Given the description of an element on the screen output the (x, y) to click on. 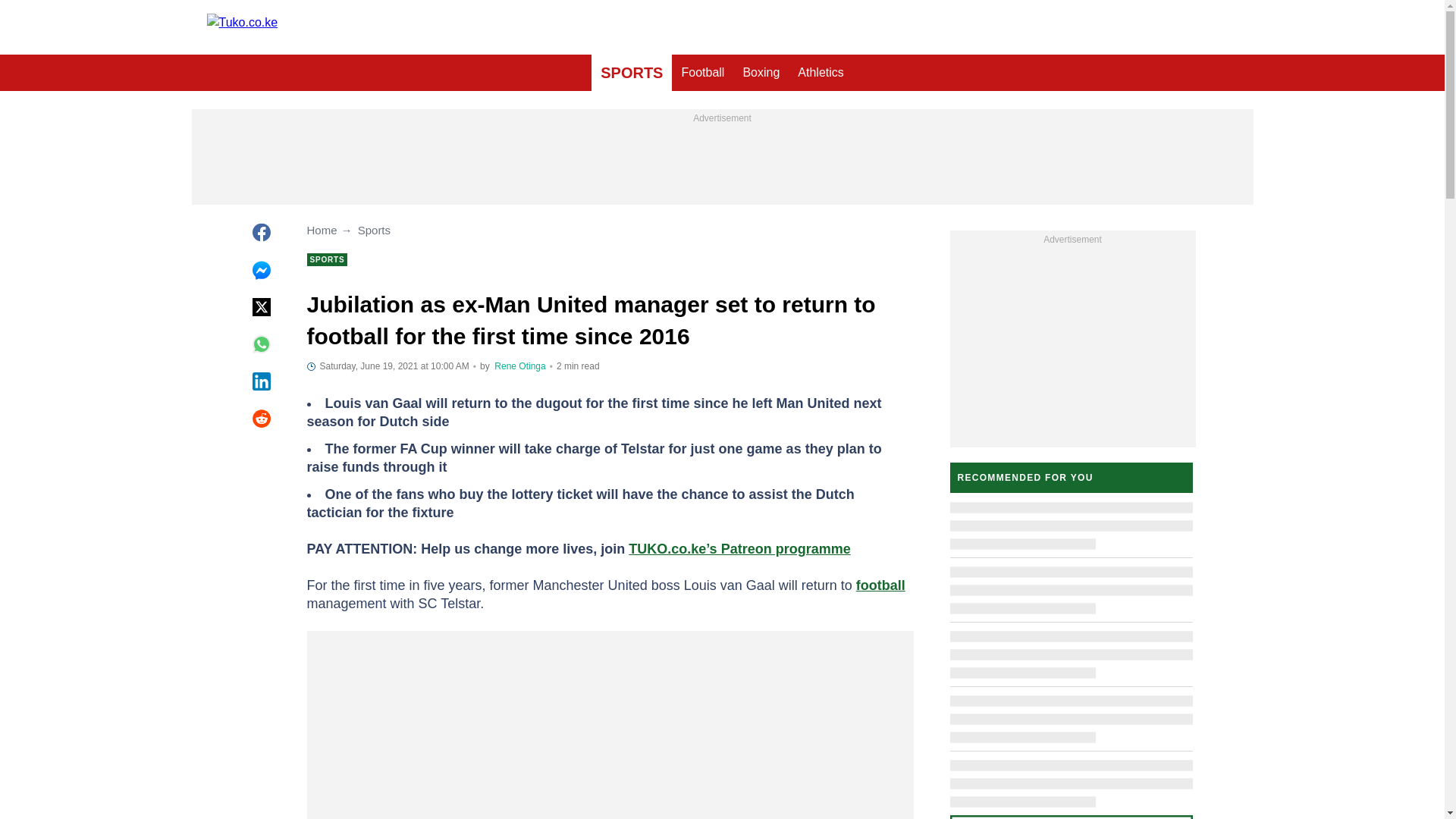
Football (702, 72)
Athletics (820, 72)
SPORTS (631, 72)
Boxing (761, 72)
Author page (519, 366)
